Given the description of an element on the screen output the (x, y) to click on. 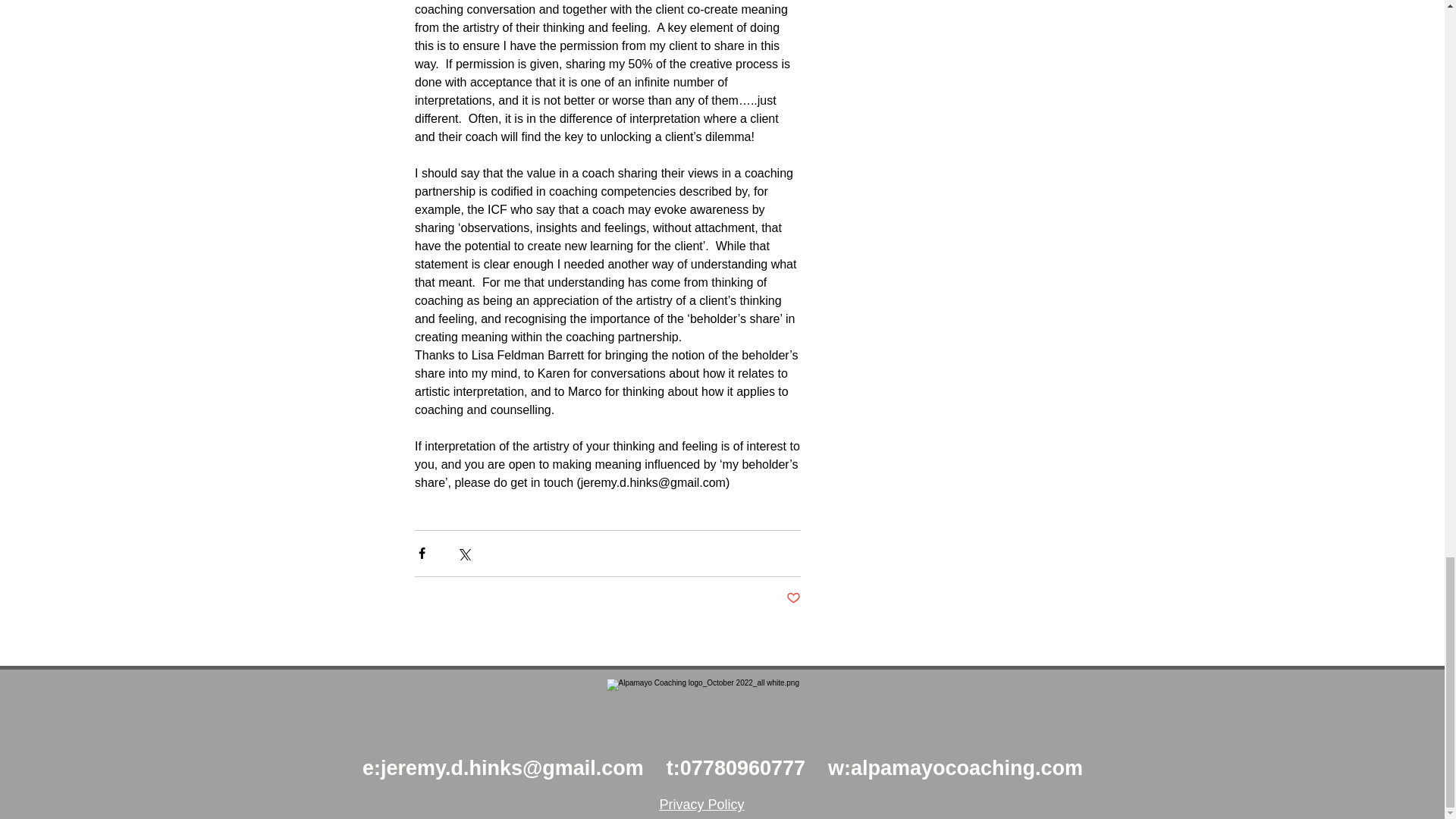
Post not marked as liked (792, 598)
Privacy Policy (701, 804)
